Given the description of an element on the screen output the (x, y) to click on. 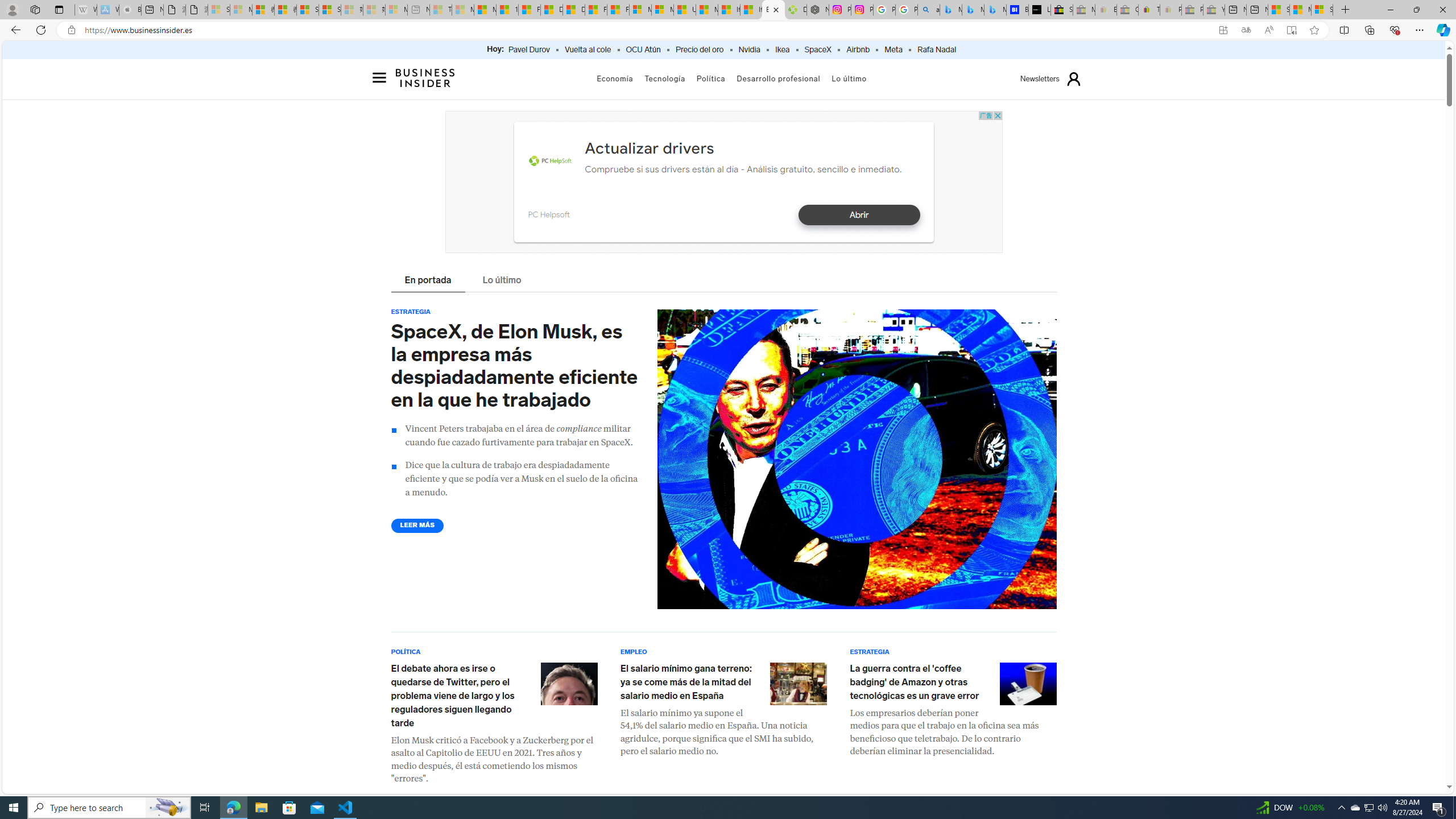
Yard, Garden & Outdoor Living - Sleeping (1214, 9)
Desarrollo profesional (778, 78)
Microsoft Services Agreement - Sleeping (241, 9)
Airbnb (857, 49)
alabama high school quarterback dies - Search (928, 9)
